Given the description of an element on the screen output the (x, y) to click on. 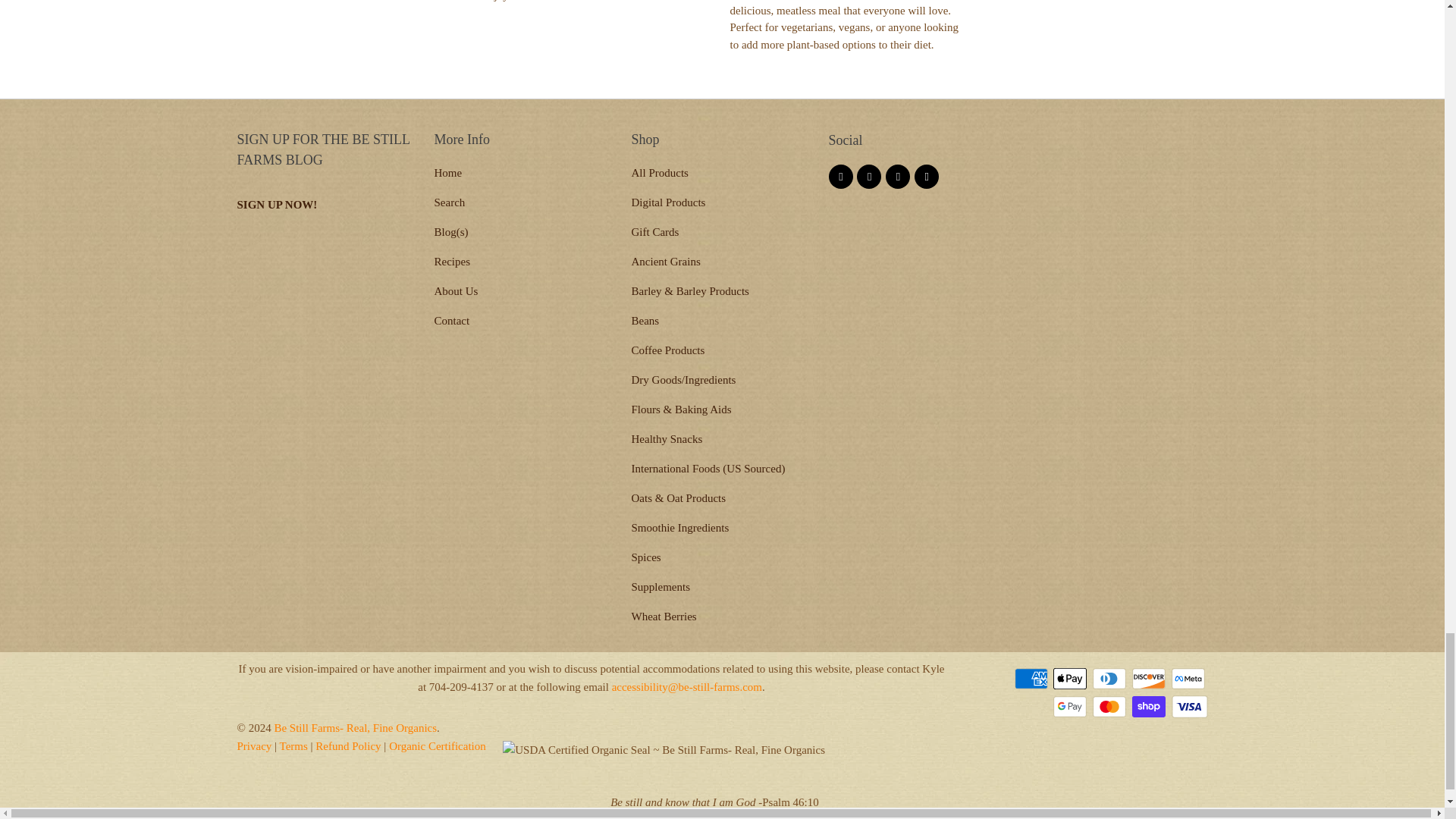
Apple Pay (1070, 678)
Shop Pay (1150, 706)
Mastercard (1111, 706)
Meta Pay (1188, 678)
Visa (1188, 706)
Diners Club (1111, 678)
Discover (1150, 678)
American Express (1032, 678)
Google Pay (1070, 706)
